Given the description of an element on the screen output the (x, y) to click on. 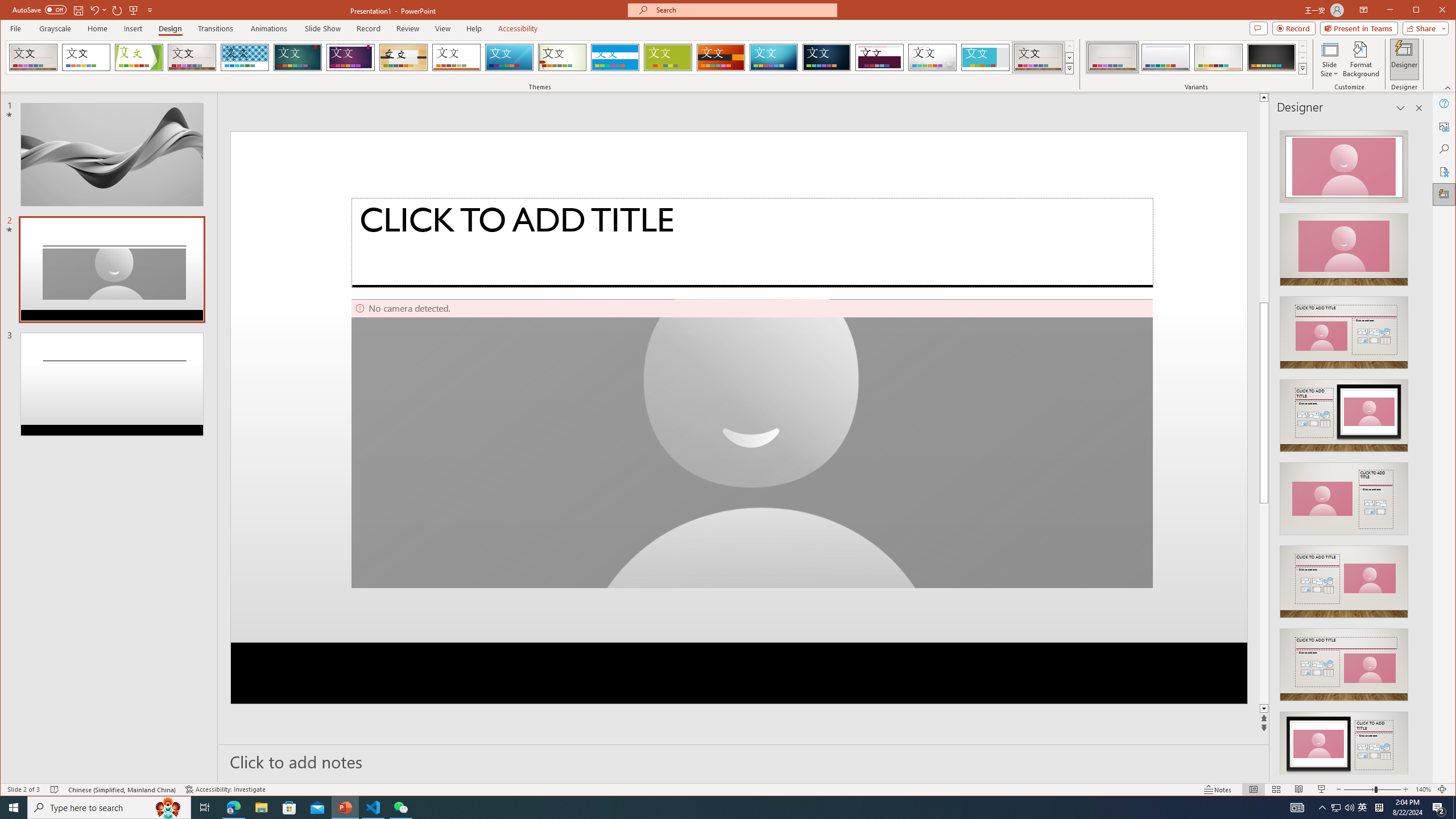
Ion Boardroom (350, 57)
